Given the description of an element on the screen output the (x, y) to click on. 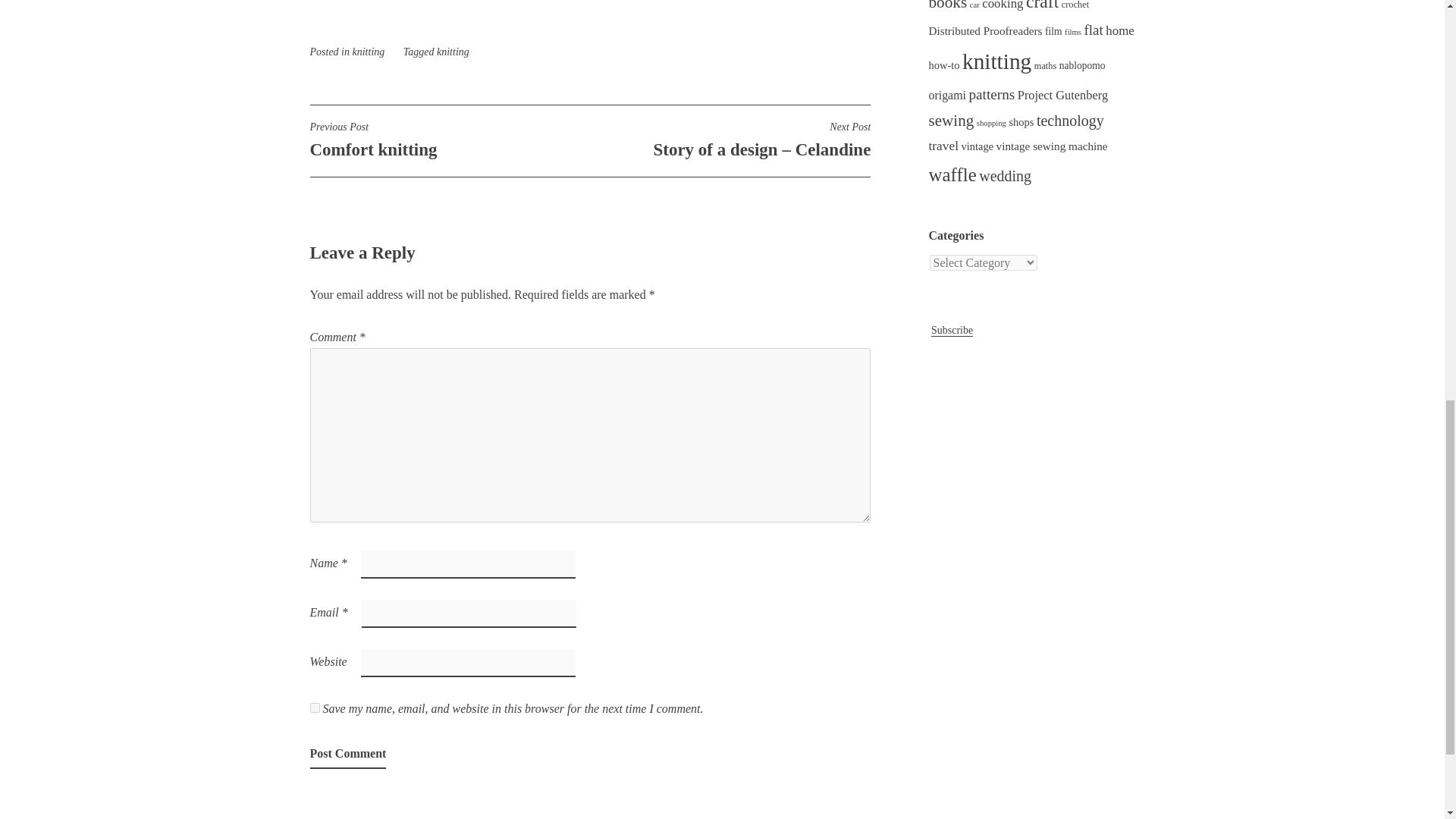
Post Comment (346, 755)
knitting (368, 51)
yes (313, 707)
Post Comment (346, 755)
knitting (448, 139)
